Given the description of an element on the screen output the (x, y) to click on. 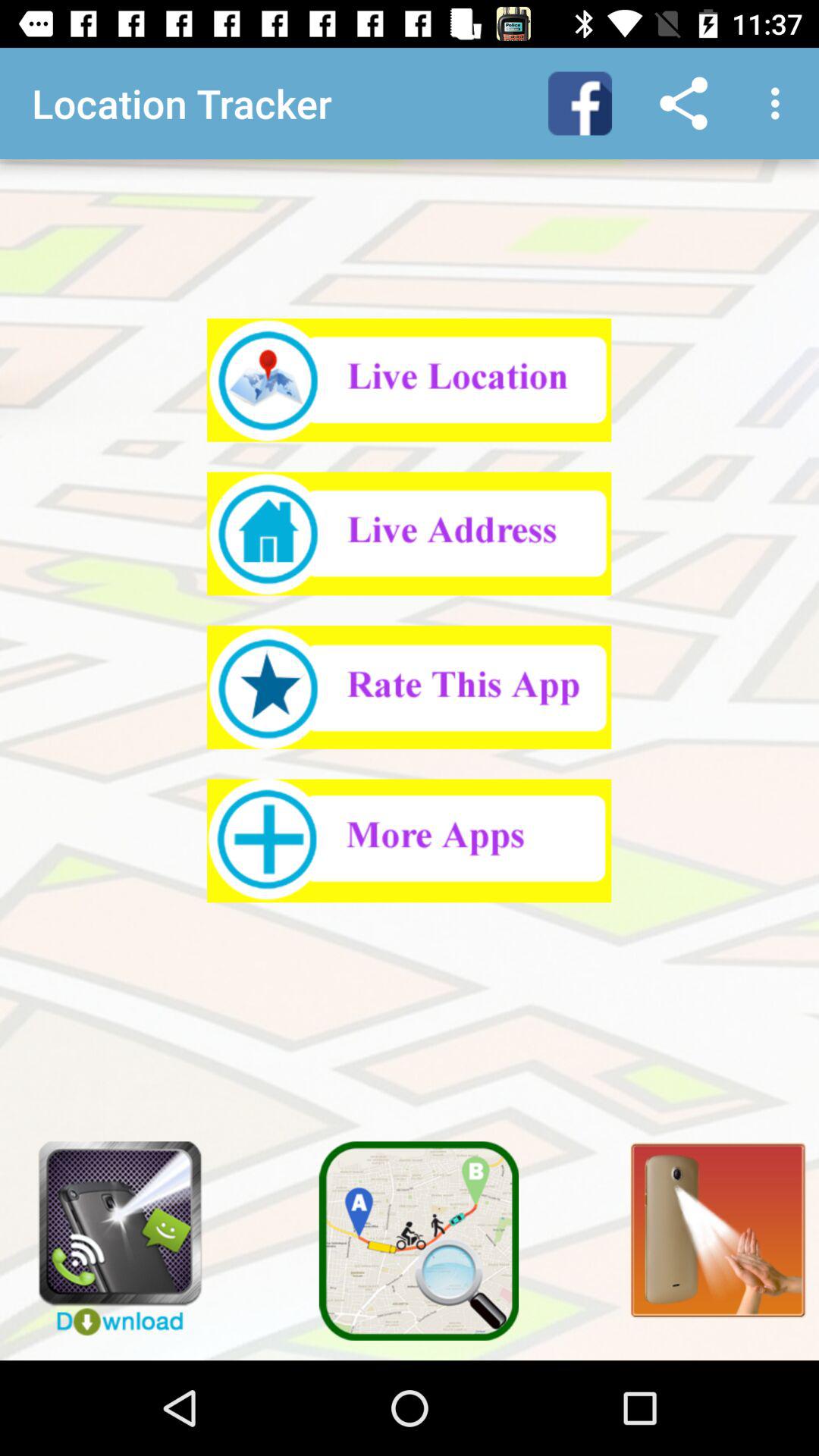
download button (109, 1230)
